Given the description of an element on the screen output the (x, y) to click on. 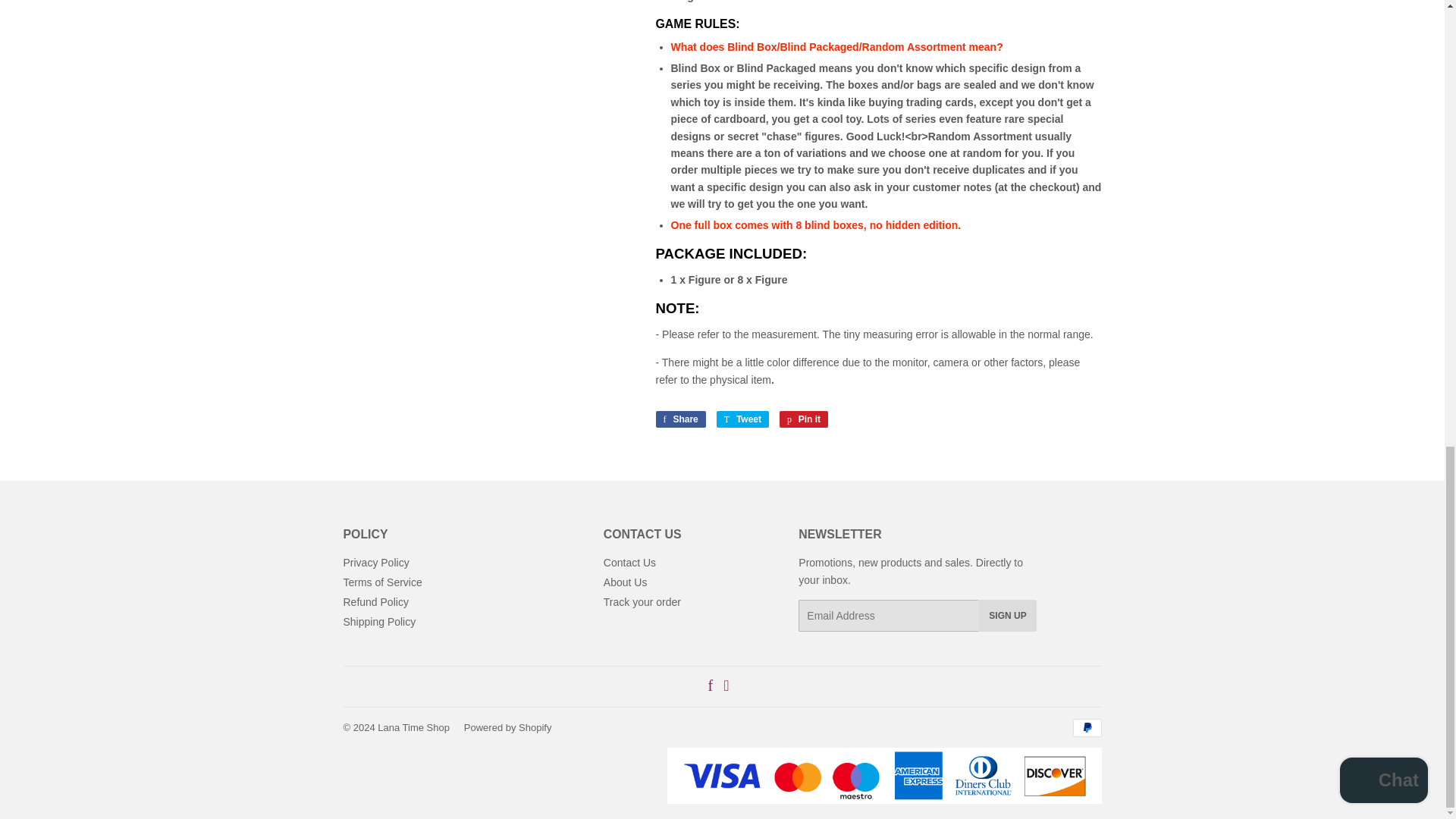
PayPal (1085, 728)
Pin on Pinterest (803, 419)
Tweet on Twitter (742, 419)
Share on Facebook (679, 419)
